Given the description of an element on the screen output the (x, y) to click on. 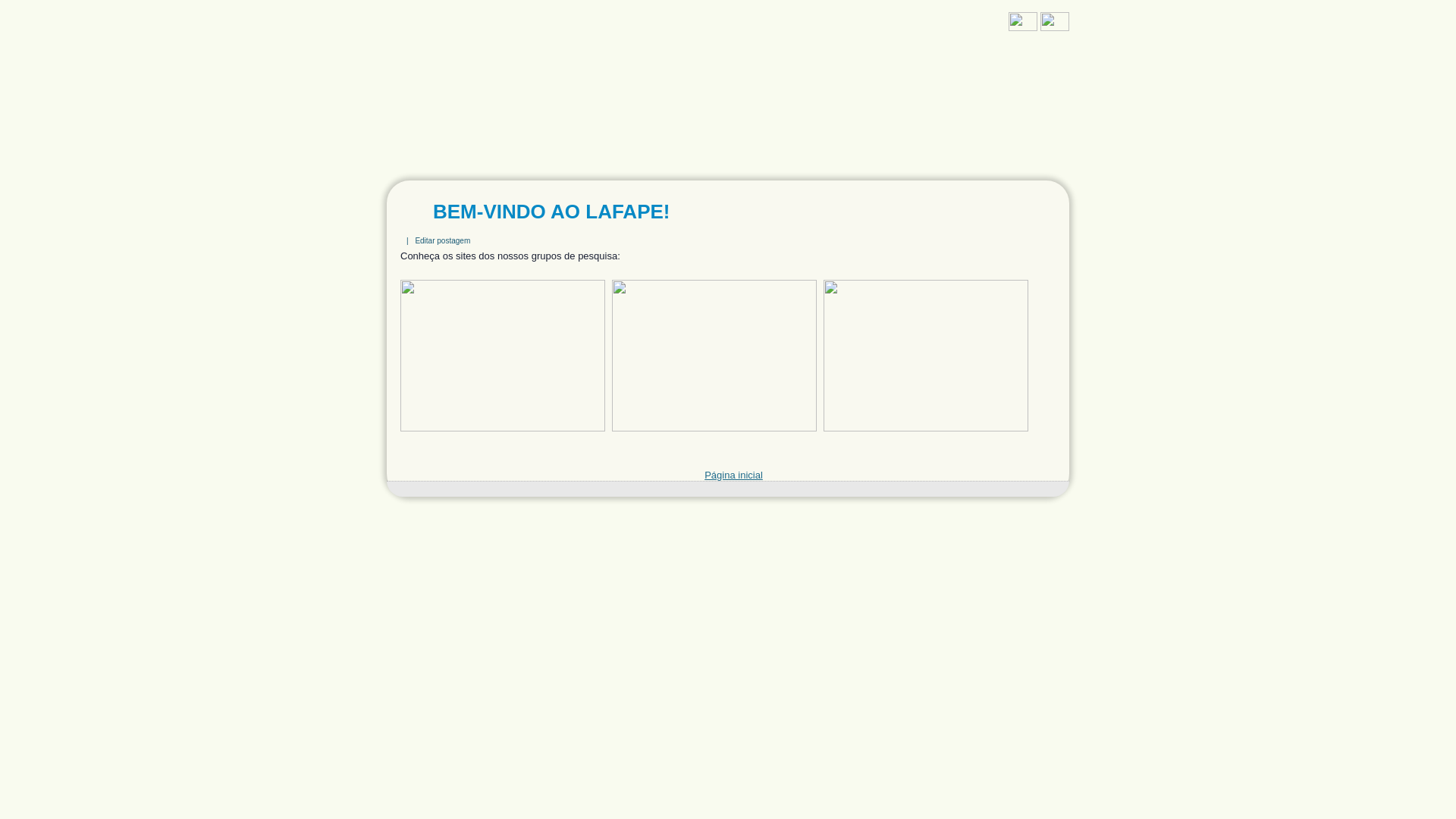
Editar postagem Element type: text (442, 240)
BEM-VINDO AO LAFAPE! Element type: text (551, 211)
